Given the description of an element on the screen output the (x, y) to click on. 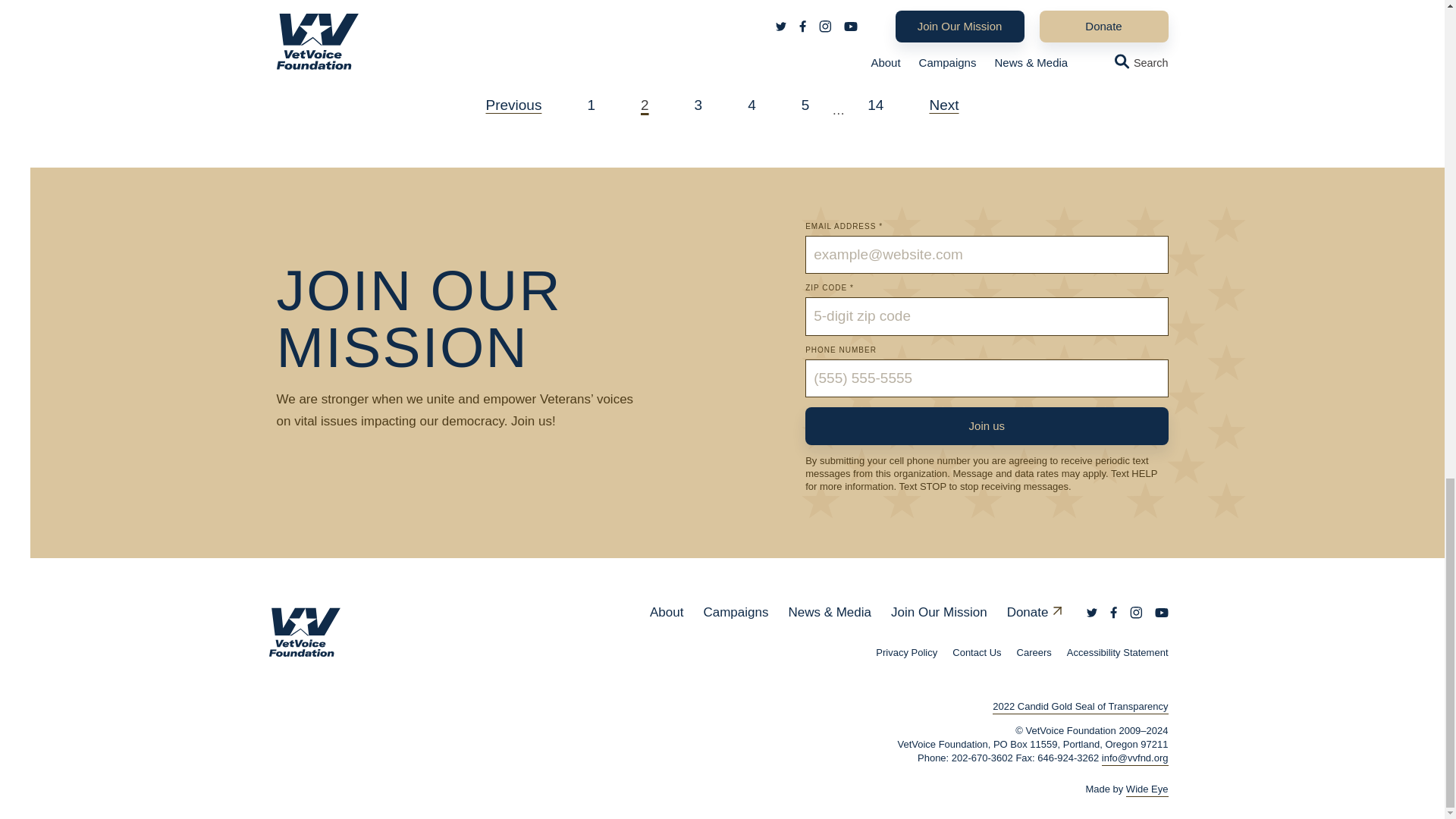
Return Home (311, 631)
